Given the description of an element on the screen output the (x, y) to click on. 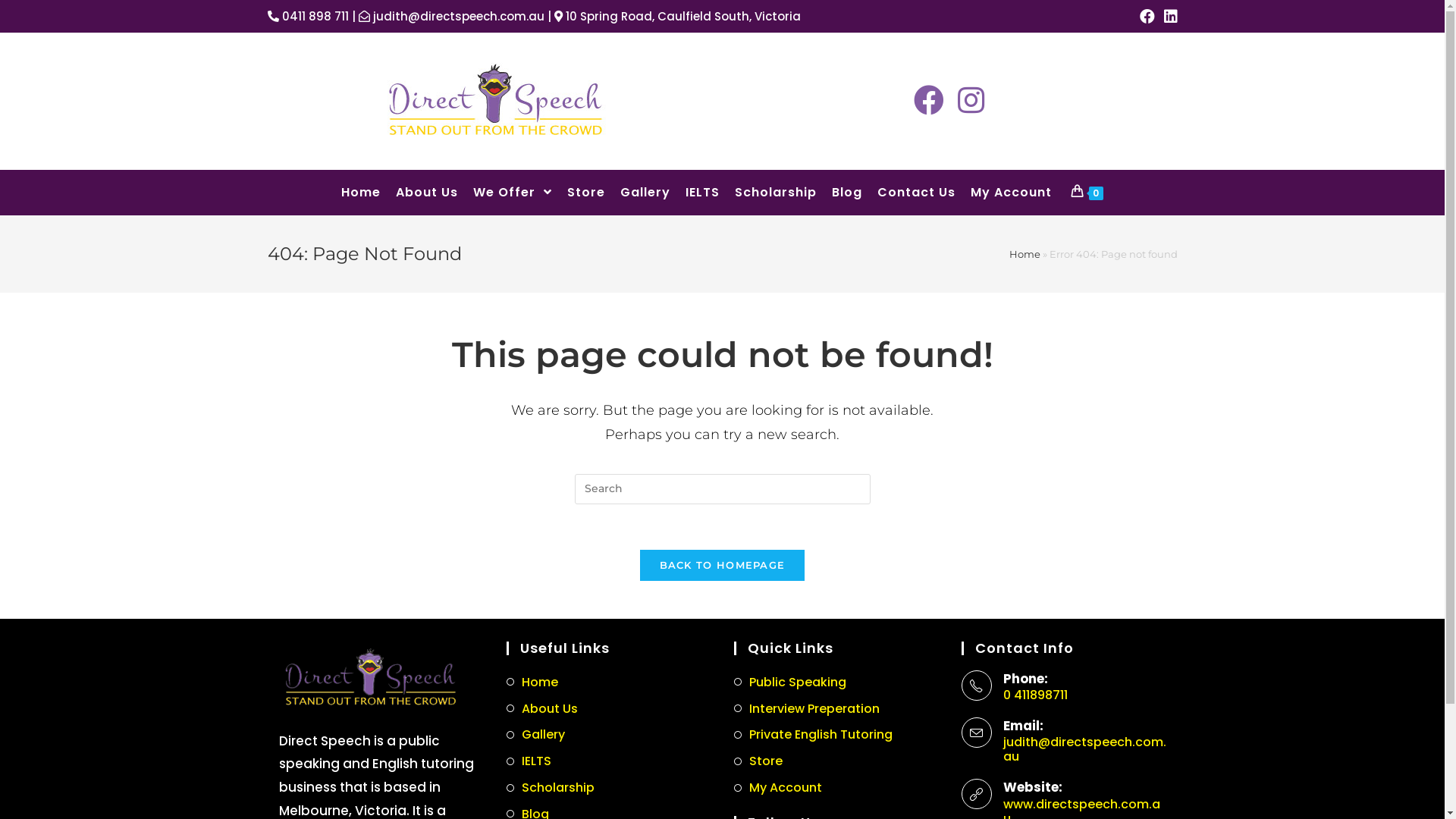
10 Spring Road, Caulfield South, Victoria Element type: text (676, 16)
My Account Element type: text (778, 788)
judith@directspeech.com.au Element type: text (450, 16)
Gallery Element type: text (644, 192)
IELTS Element type: text (528, 761)
0 411898711 Element type: text (1083, 695)
Contact Us Element type: text (916, 192)
Store Element type: text (585, 192)
0 Element type: text (1086, 192)
IELTS Element type: text (702, 192)
Store Element type: text (758, 761)
Private English Tutoring Element type: text (813, 735)
About Us Element type: text (541, 709)
Home Element type: text (1023, 253)
Interview Preperation Element type: text (806, 709)
judith@directspeech.com.au Element type: text (1083, 749)
0411 898 711 Element type: text (307, 16)
Scholarship Element type: text (550, 788)
Gallery Element type: text (535, 735)
Home Element type: text (360, 192)
Blog Element type: text (846, 192)
Scholarship Element type: text (775, 192)
Public Speaking Element type: text (790, 682)
About Us Element type: text (426, 192)
My Account Element type: text (1011, 192)
Home Element type: text (532, 682)
We Offer Element type: text (512, 192)
BACK TO HOMEPAGE Element type: text (722, 564)
